Given the description of an element on the screen output the (x, y) to click on. 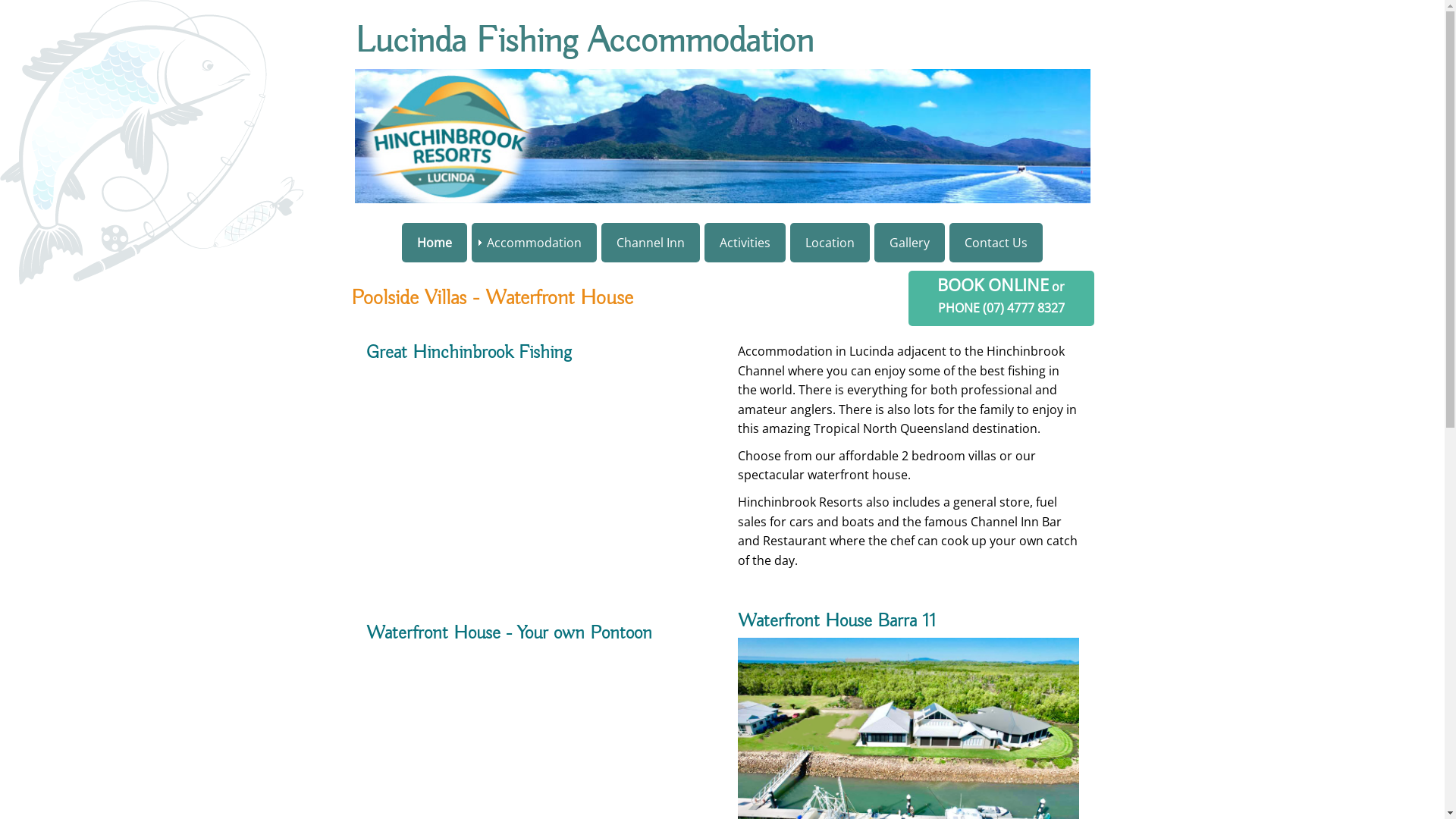
Gallery Element type: text (909, 242)
Contact Us Element type: text (995, 242)
Channel Inn Element type: text (650, 242)
Home Element type: text (434, 242)
BOOK ONLINE Element type: text (992, 284)
Accommodation Element type: text (533, 242)
Location Element type: text (829, 242)
Activities Element type: text (744, 242)
